Given the description of an element on the screen output the (x, y) to click on. 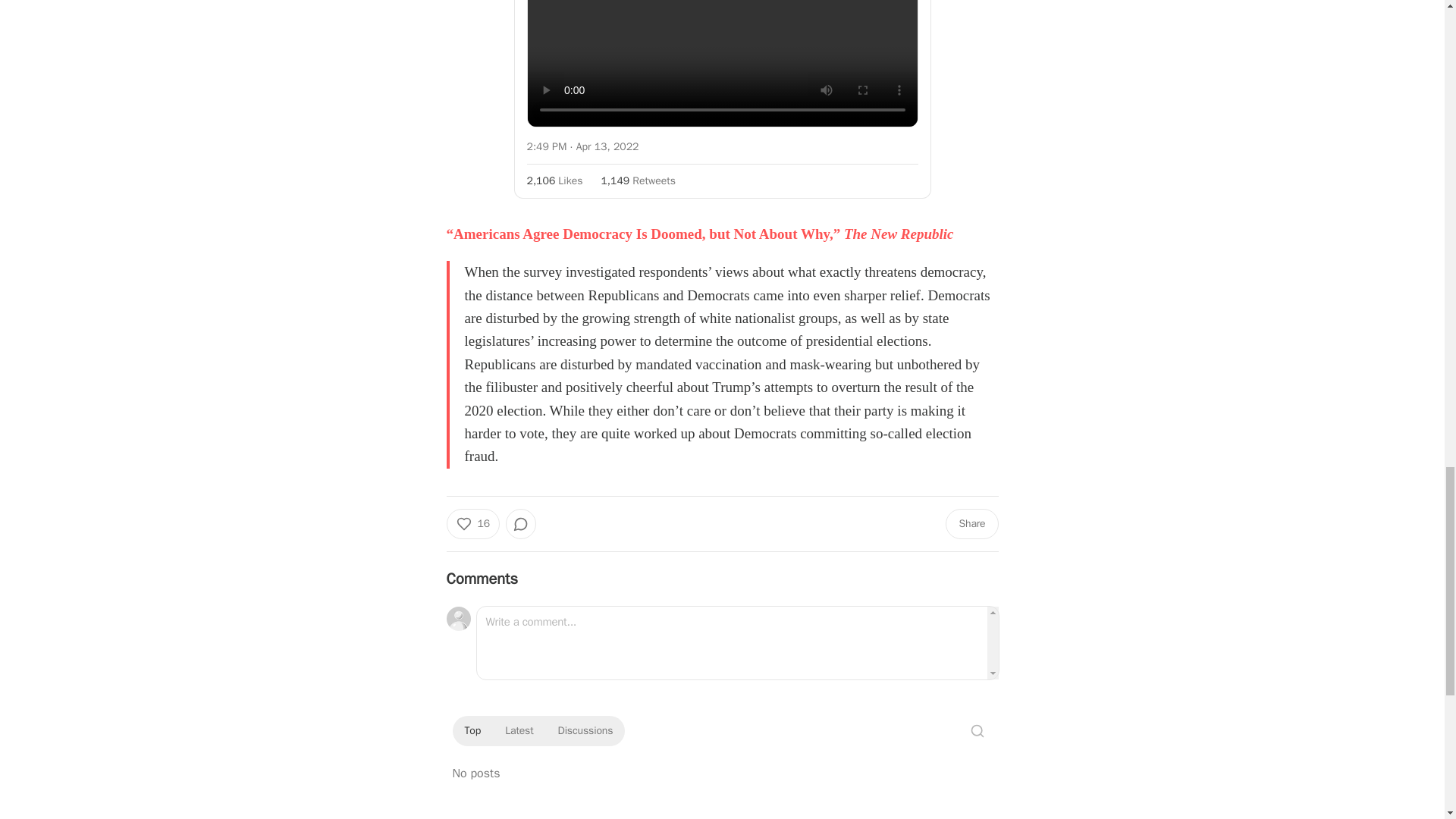
16 (472, 523)
The New Republic (898, 233)
Share (970, 523)
